Given the description of an element on the screen output the (x, y) to click on. 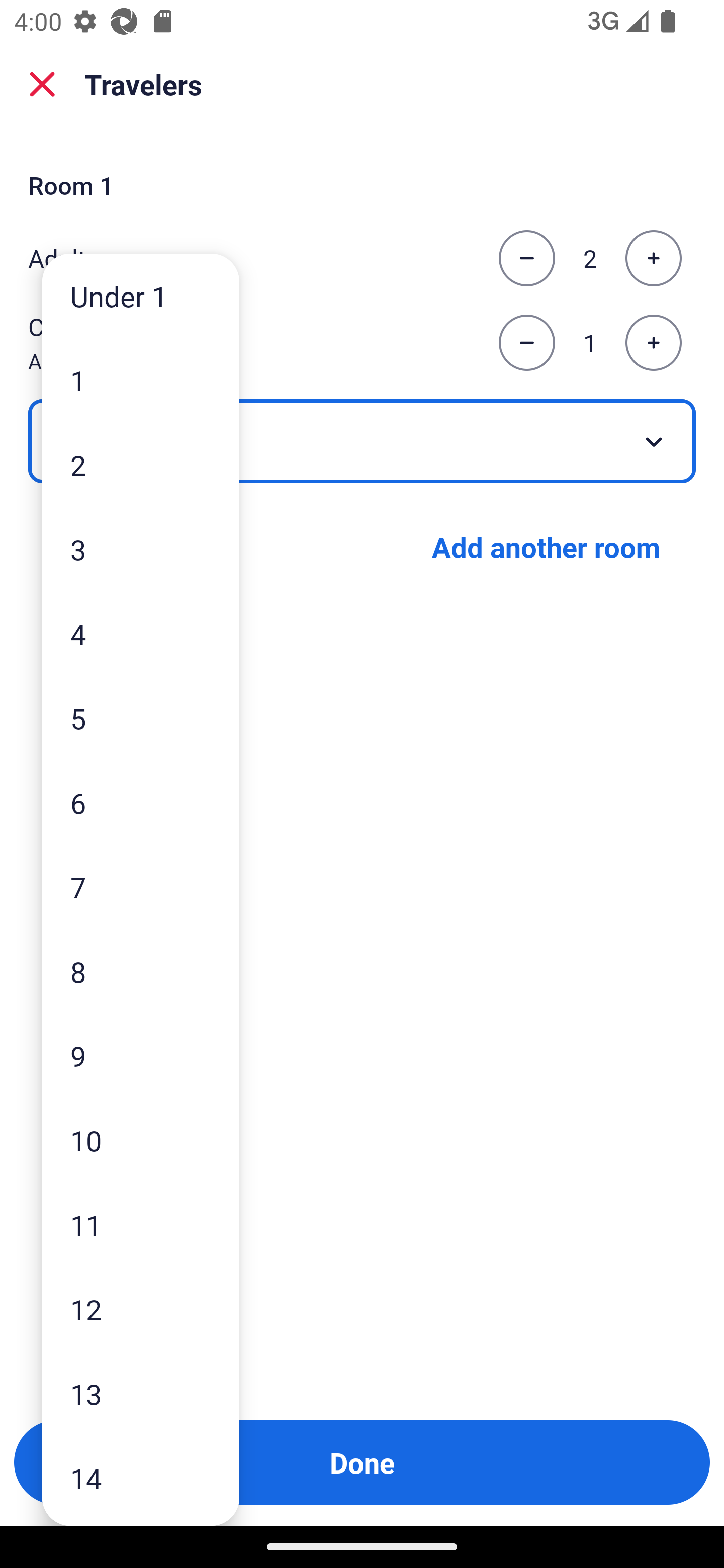
Under 1 (140, 296)
1 (140, 380)
2 (140, 464)
3 (140, 548)
4 (140, 633)
5 (140, 717)
6 (140, 802)
7 (140, 887)
8 (140, 970)
9 (140, 1054)
10 (140, 1139)
11 (140, 1224)
12 (140, 1308)
13 (140, 1393)
14 (140, 1478)
